Given the description of an element on the screen output the (x, y) to click on. 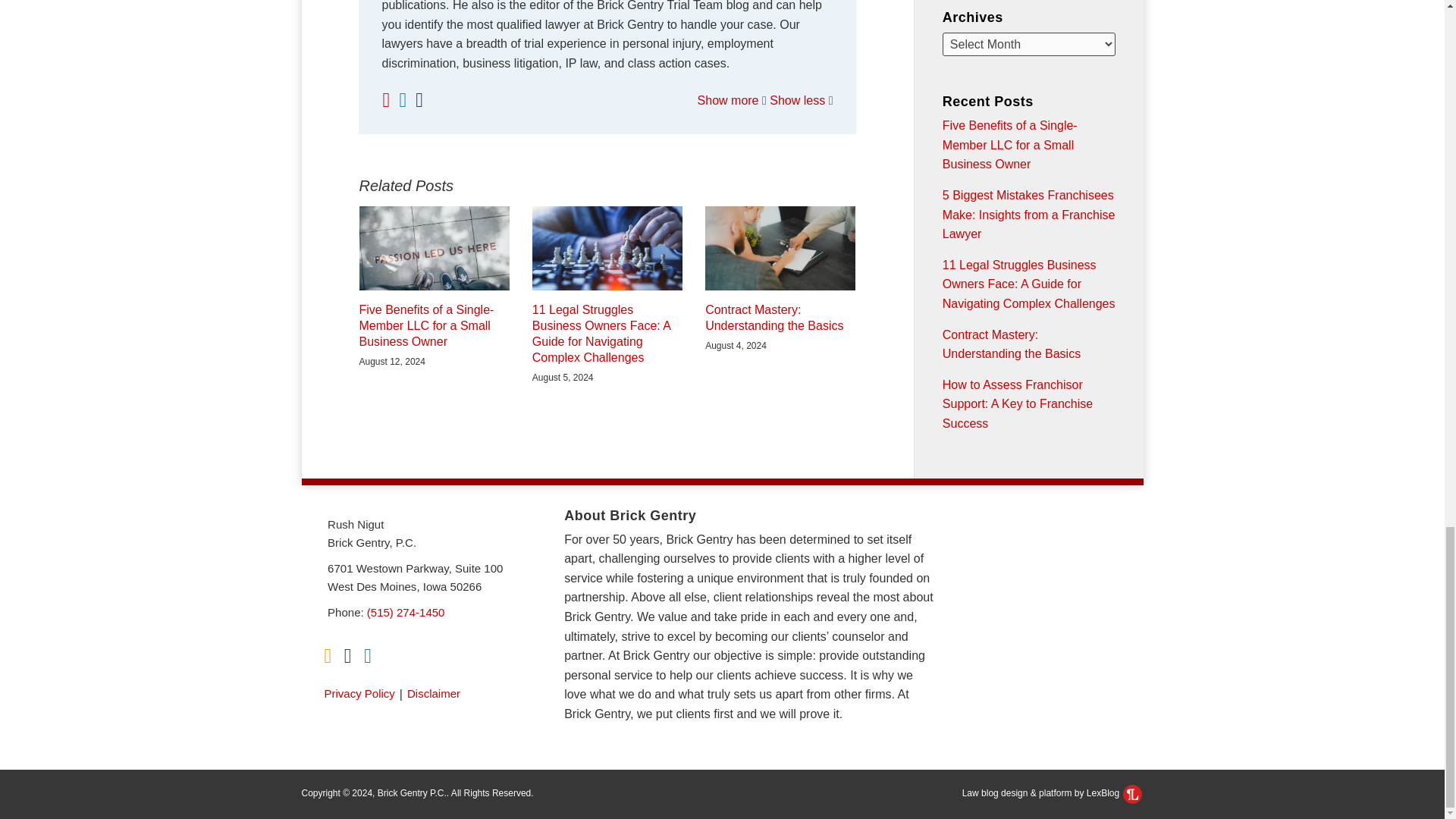
Show less (801, 100)
Show more (732, 100)
LexBlog Logo (1131, 793)
